Given the description of an element on the screen output the (x, y) to click on. 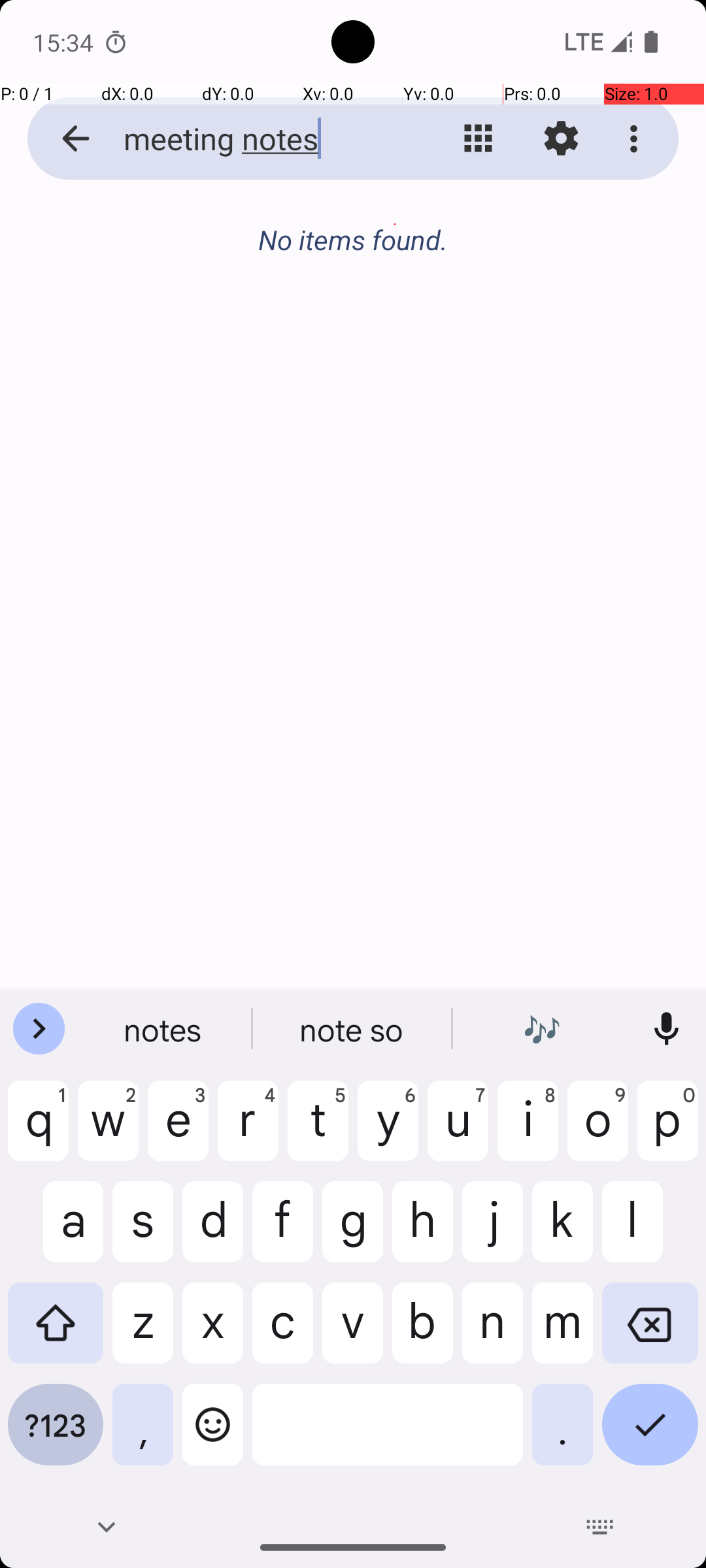
meeting notes Element type: android.widget.EditText (252, 138)
wk. 41 Element type: android.widget.TextView (40, 243)
M
9 Element type: android.widget.TextView (126, 223)
T
10 Element type: android.widget.TextView (215, 223)
W
11 Element type: android.widget.TextView (305, 223)
T
12 Element type: android.widget.TextView (394, 223)
F
13 Element type: android.widget.TextView (483, 223)
S
14 Element type: android.widget.TextView (572, 223)
notes Element type: android.widget.FrameLayout (163, 1028)
note so Element type: android.widget.FrameLayout (352, 1028)
emoji 🎶 Element type: android.widget.FrameLayout (541, 1028)
